Given the description of an element on the screen output the (x, y) to click on. 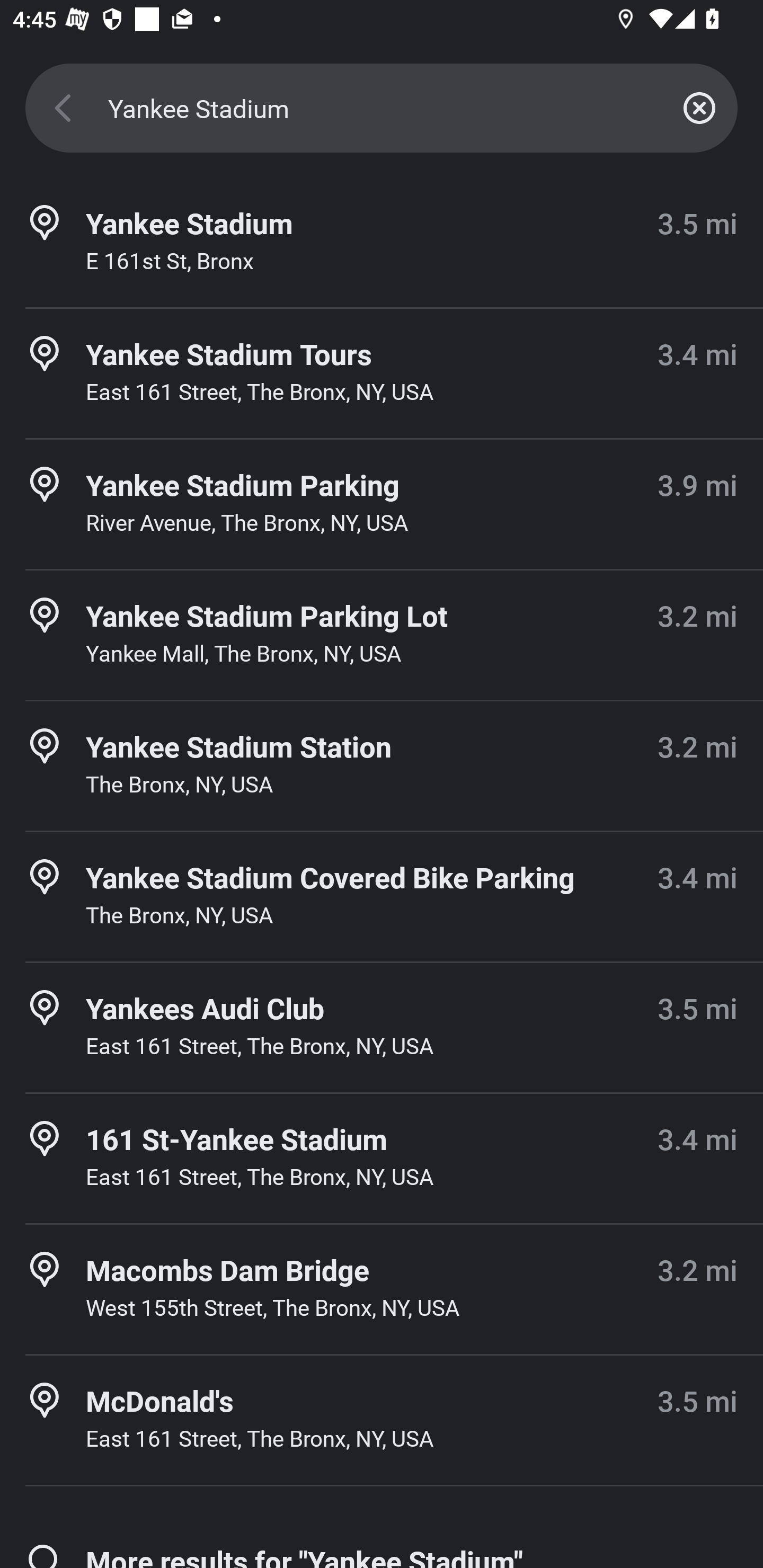
Yankee Stadium SEARCH_SCREEN_SEARCH_FIELD (381, 108)
Yankee Stadium 3.5 mi E 161st St, Bronx (381, 242)
Yankee Stadium Station 3.2 mi The Bronx, NY, USA (381, 765)
SUGGESTIONS_SHEET_DRAG_HANDLE (381, 860)
